Given the description of an element on the screen output the (x, y) to click on. 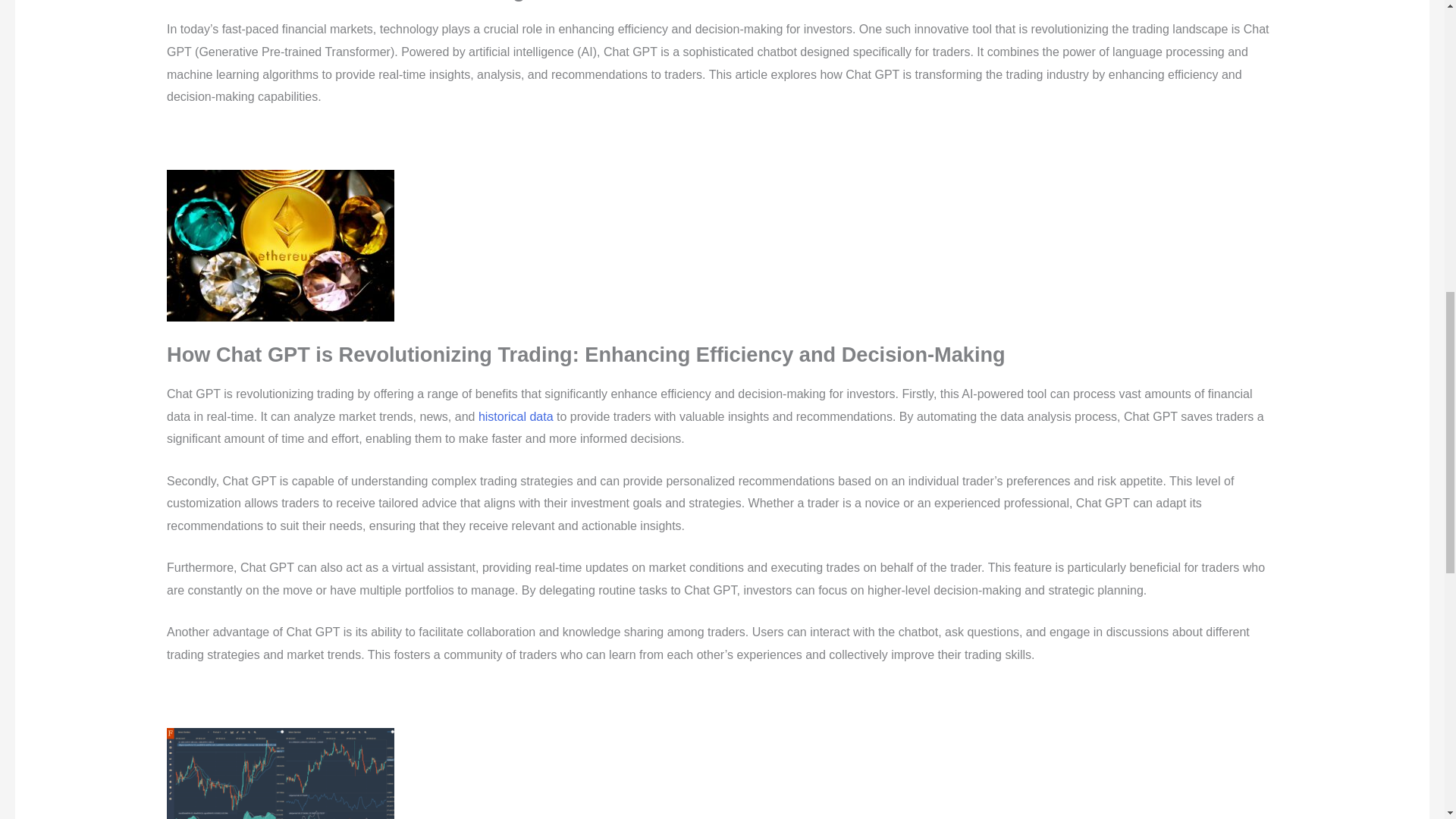
historical data (516, 416)
